Given the description of an element on the screen output the (x, y) to click on. 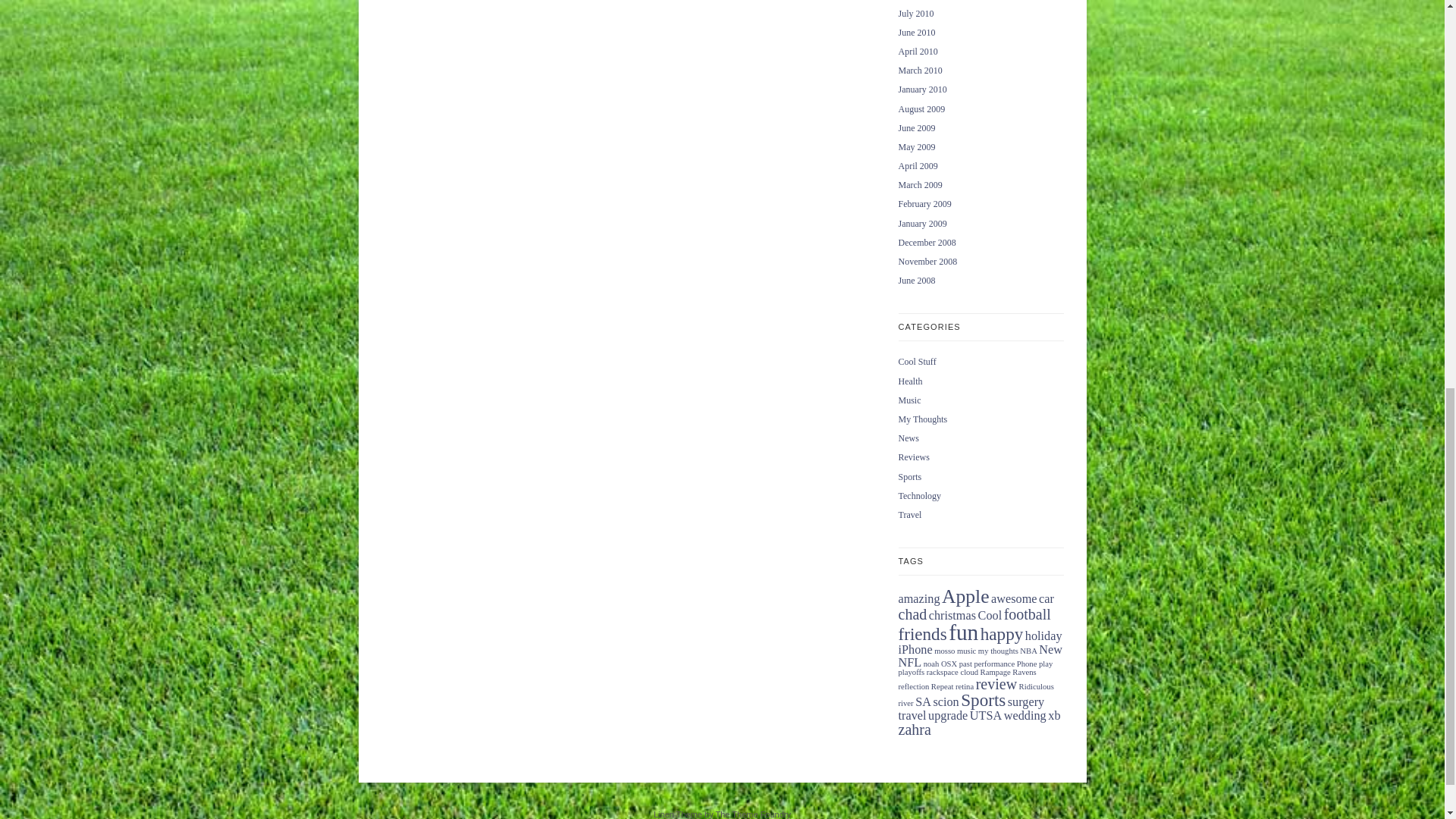
April 2010 (917, 50)
January 2010 (922, 89)
August 2009 (921, 108)
July 2010 (915, 13)
March 2010 (920, 70)
June 2010 (916, 32)
June 2009 (916, 127)
